Given the description of an element on the screen output the (x, y) to click on. 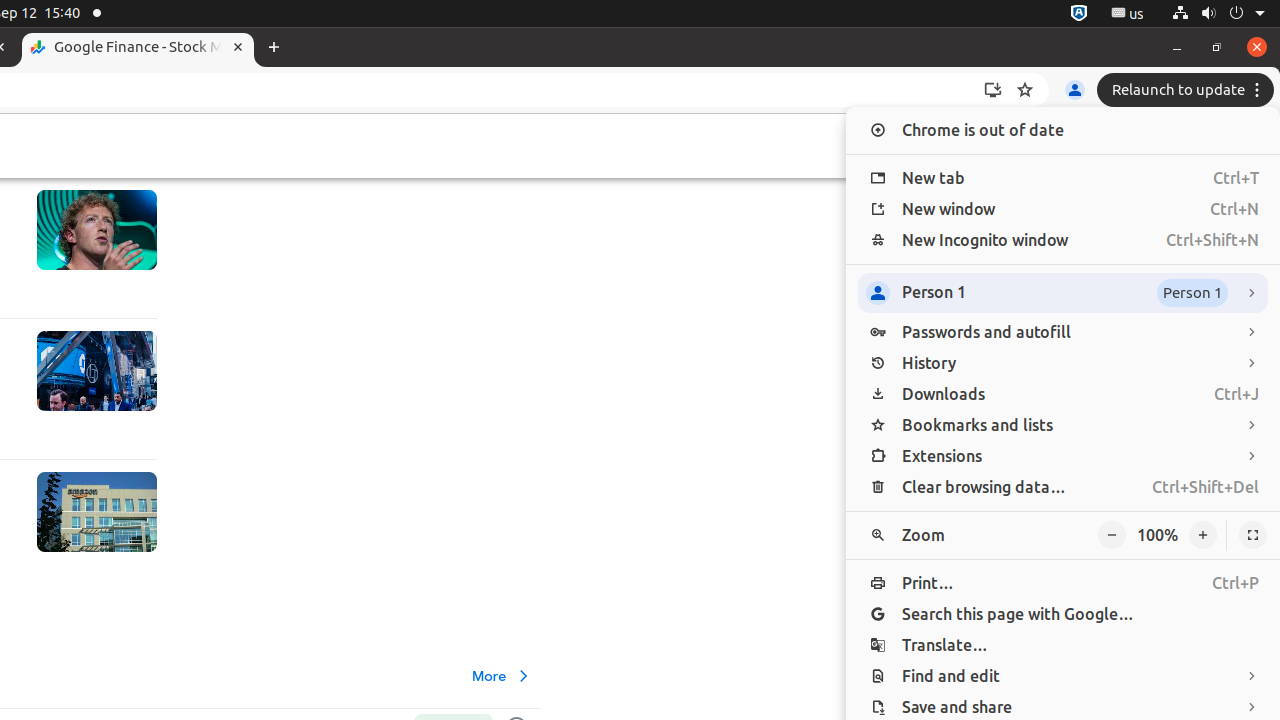
Search this page with Google… Element type: menu-item (1063, 614)
System Element type: menu (1218, 13)
